Given the description of an element on the screen output the (x, y) to click on. 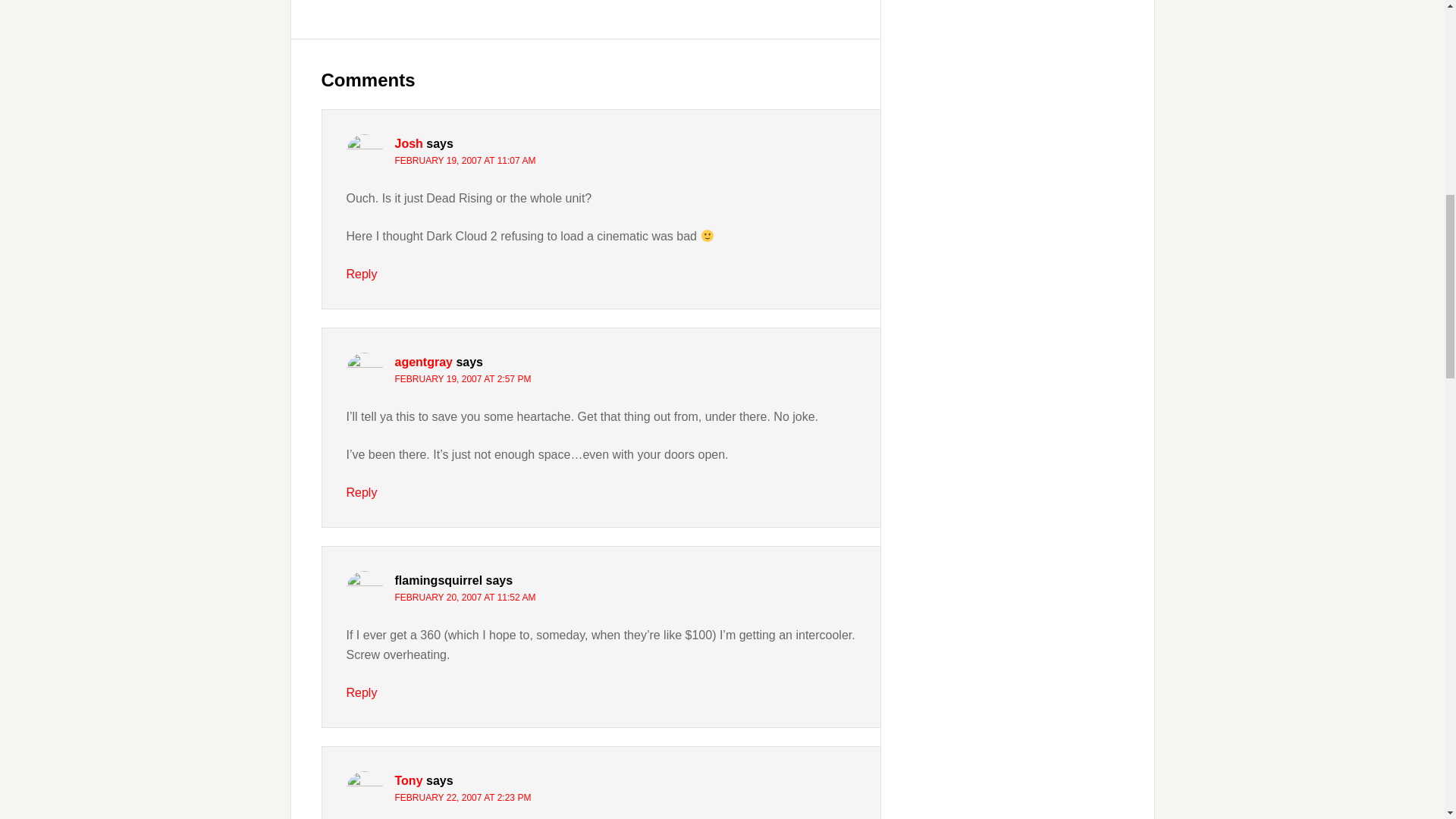
Reply (361, 692)
Tony (408, 780)
FEBRUARY 22, 2007 AT 2:23 PM (462, 797)
FEBRUARY 20, 2007 AT 11:52 AM (464, 597)
Josh (408, 143)
agentgray (422, 361)
FEBRUARY 19, 2007 AT 2:57 PM (462, 378)
Reply (361, 492)
FEBRUARY 19, 2007 AT 11:07 AM (464, 160)
Reply (361, 273)
